Given the description of an element on the screen output the (x, y) to click on. 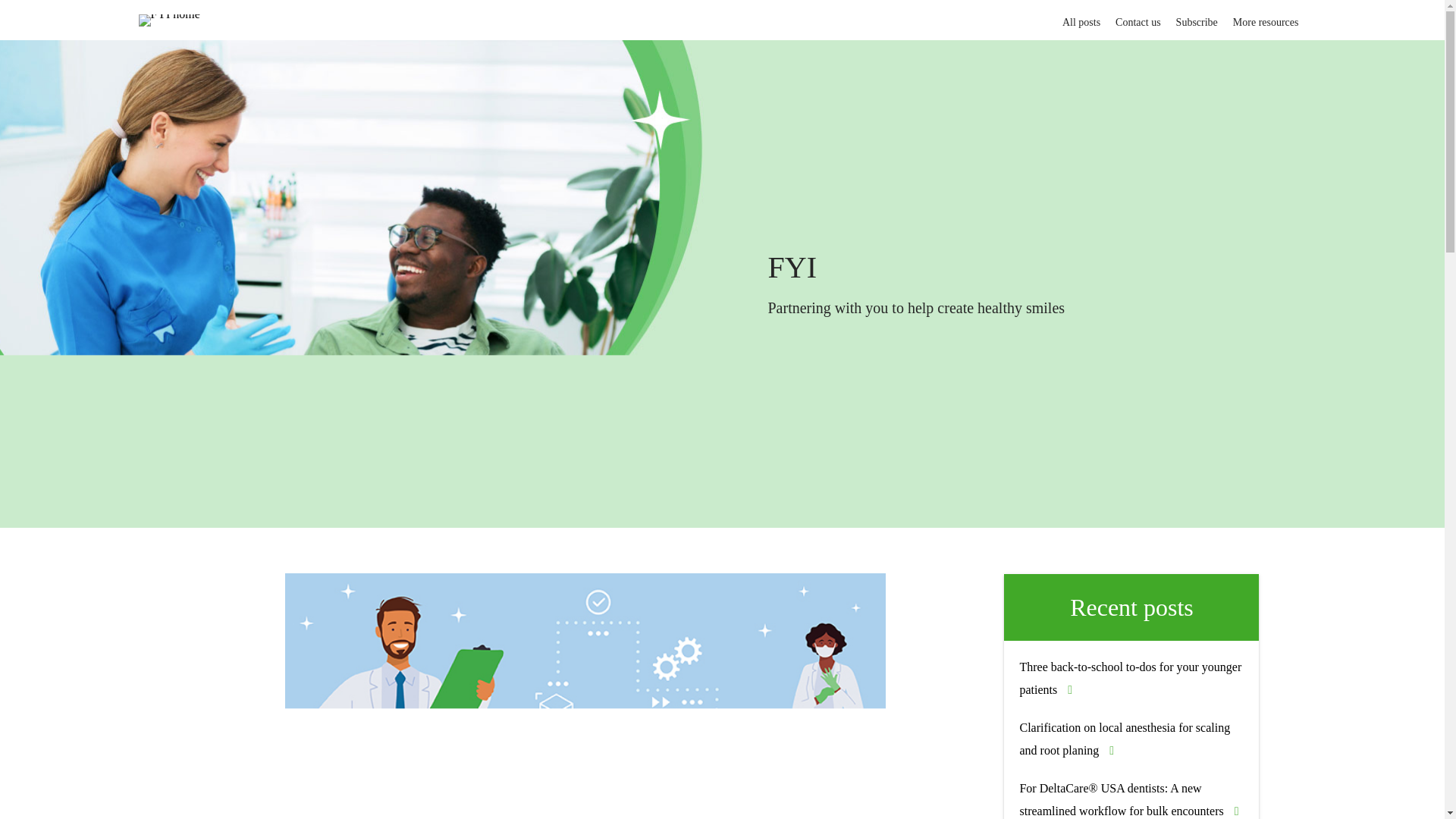
All posts (1080, 18)
More resources (1265, 18)
Contact us (1138, 18)
Three back-to-school to-dos for your younger patients (1130, 678)
Subscribe (1196, 18)
